Given the description of an element on the screen output the (x, y) to click on. 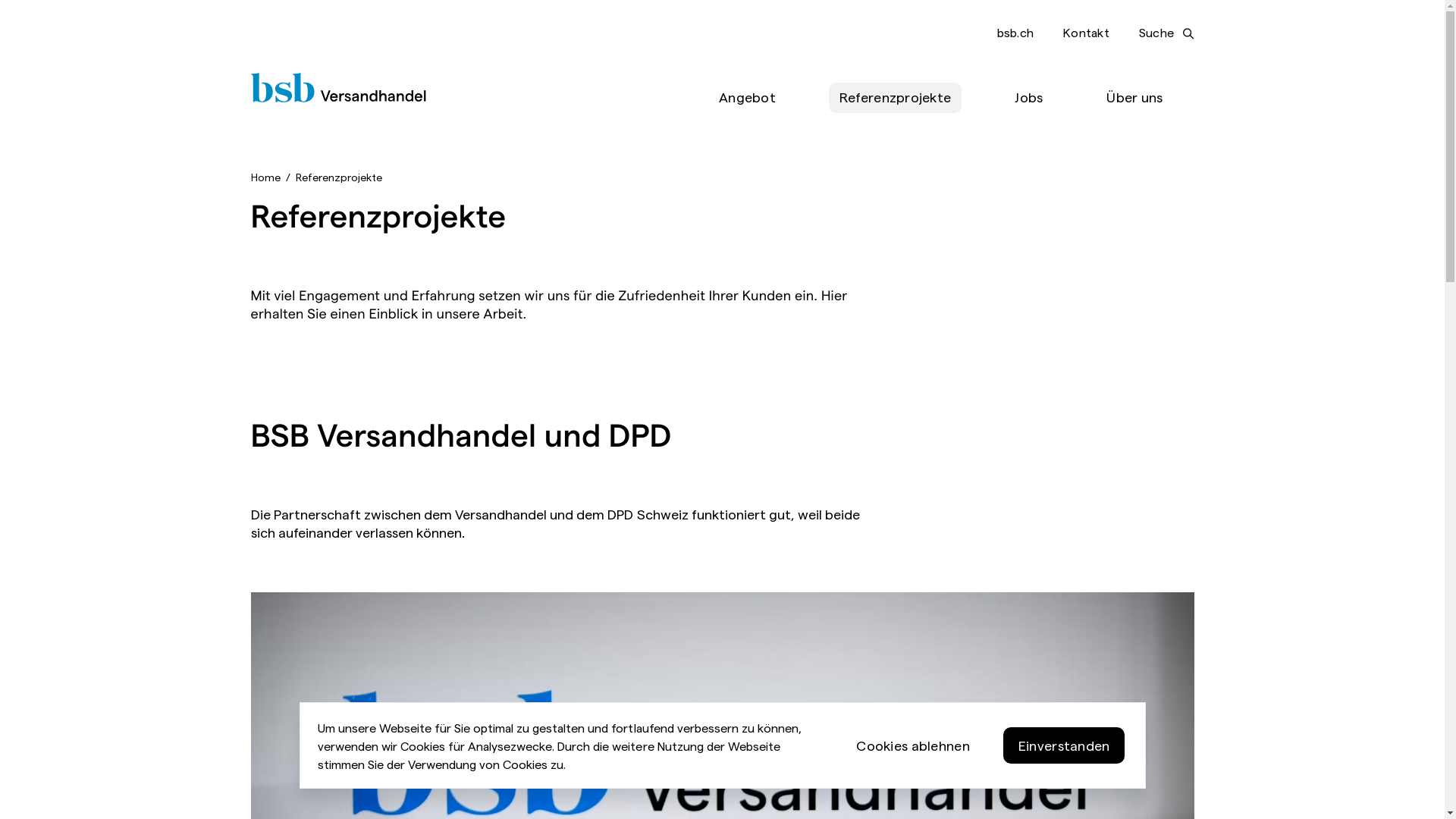
Cookies ablehnen Element type: text (912, 745)
Einverstanden Element type: text (1064, 745)
Jobs Element type: text (1028, 97)
bsb.ch Element type: text (1015, 31)
Home Element type: text (264, 176)
Suche Element type: text (1166, 32)
Angebot Element type: text (747, 97)
Referenzprojekte Element type: text (894, 97)
Kontakt Element type: text (1086, 31)
